Given the description of an element on the screen output the (x, y) to click on. 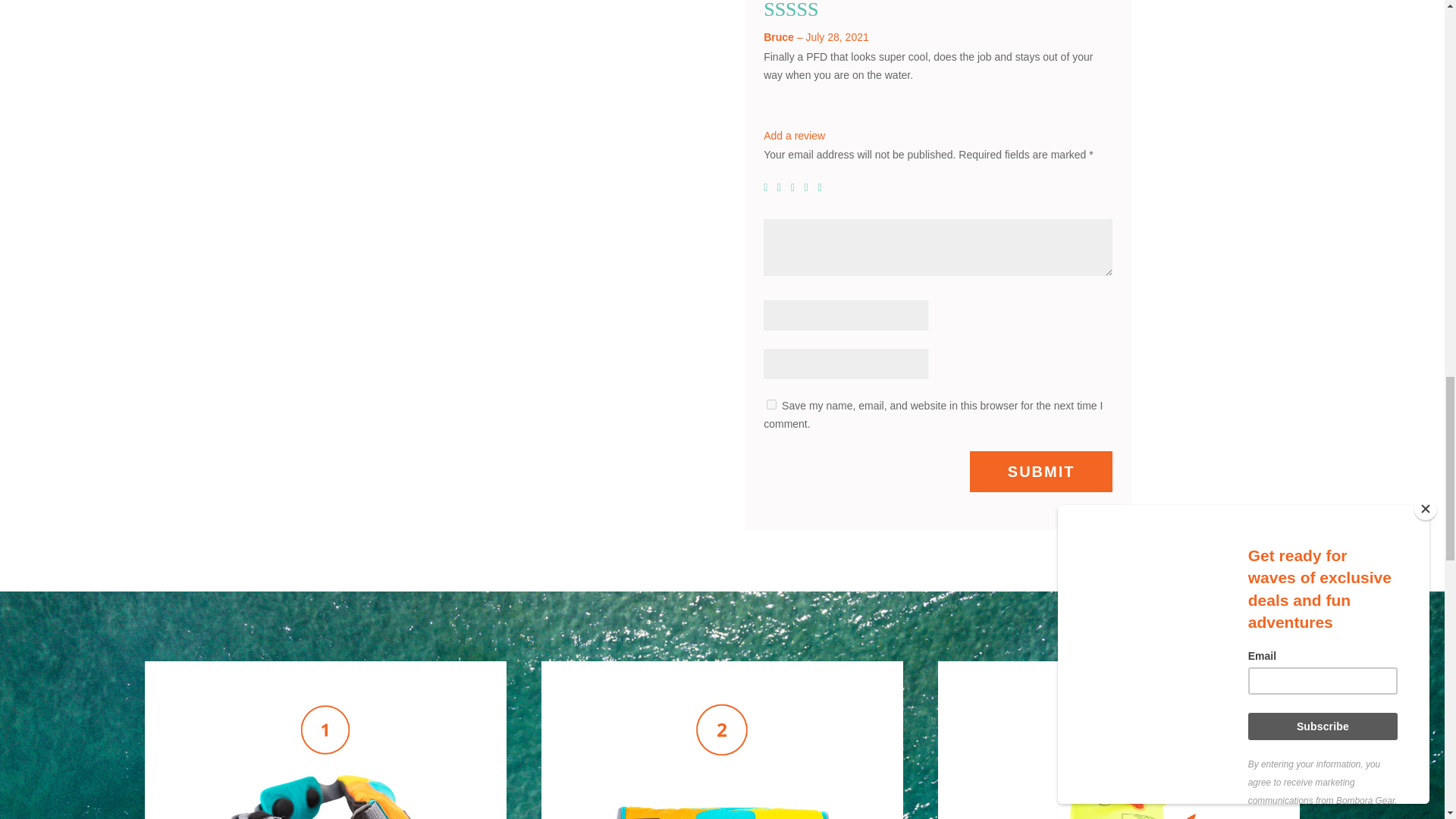
1 (768, 187)
1 (324, 751)
yes (771, 404)
5 (823, 187)
2 (782, 187)
4 (810, 187)
3 (796, 187)
SUBMIT (1041, 471)
